Given the description of an element on the screen output the (x, y) to click on. 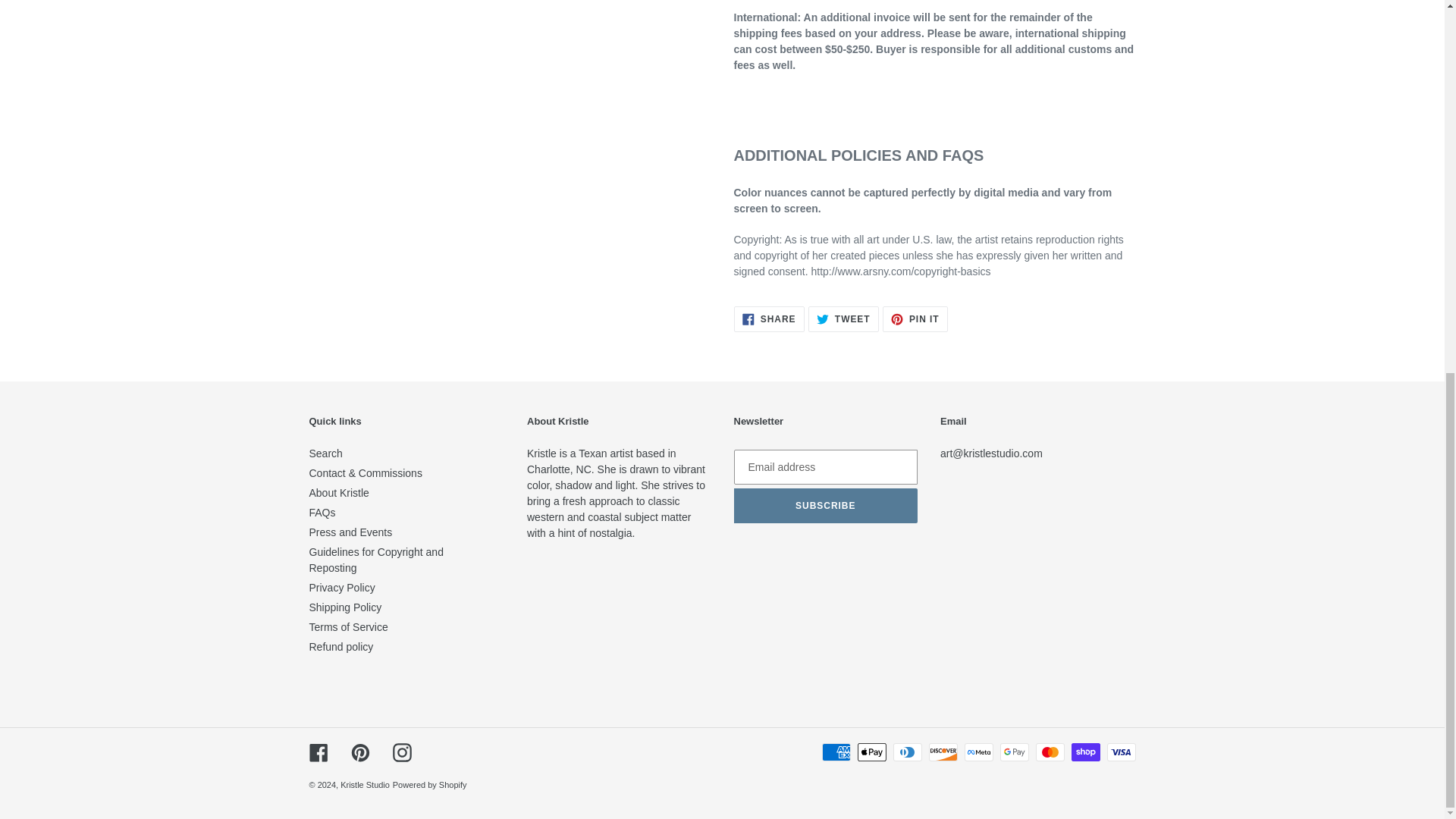
Shipping Policy (344, 607)
SUBSCRIBE (843, 319)
About Kristle (825, 505)
Guidelines for Copyright and Reposting (338, 492)
Privacy Policy (376, 560)
Instagram (341, 587)
Powered by Shopify (402, 752)
Search (769, 319)
